Given the description of an element on the screen output the (x, y) to click on. 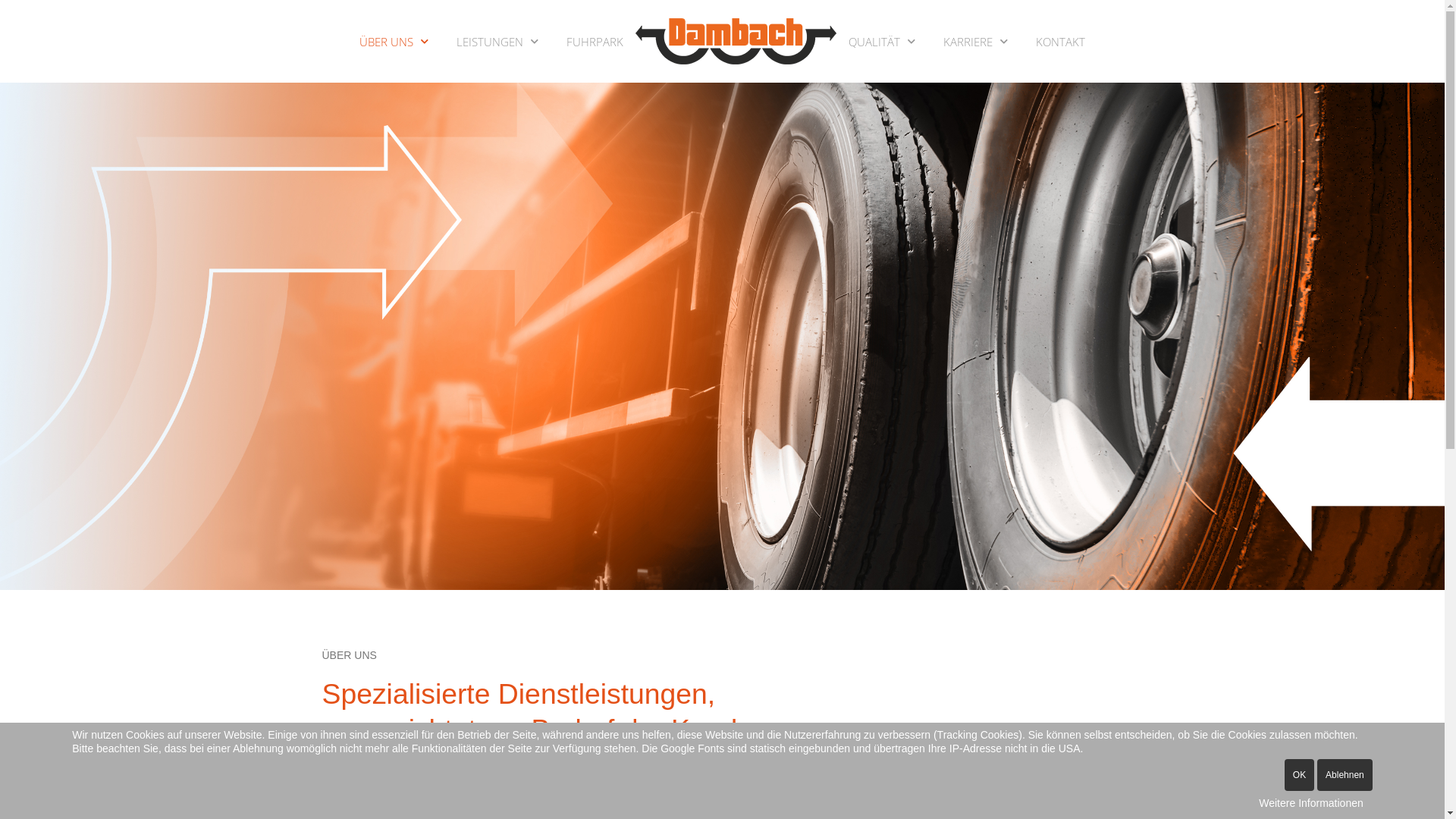
FUHRPARK Element type: text (594, 40)
KONTAKT Element type: text (1060, 40)
LEISTUNGEN Element type: text (499, 40)
KARRIERE Element type: text (977, 40)
Weitere Informationen Element type: text (1310, 802)
Ablehnen Element type: text (1344, 774)
OK Element type: text (1299, 774)
